Given the description of an element on the screen output the (x, y) to click on. 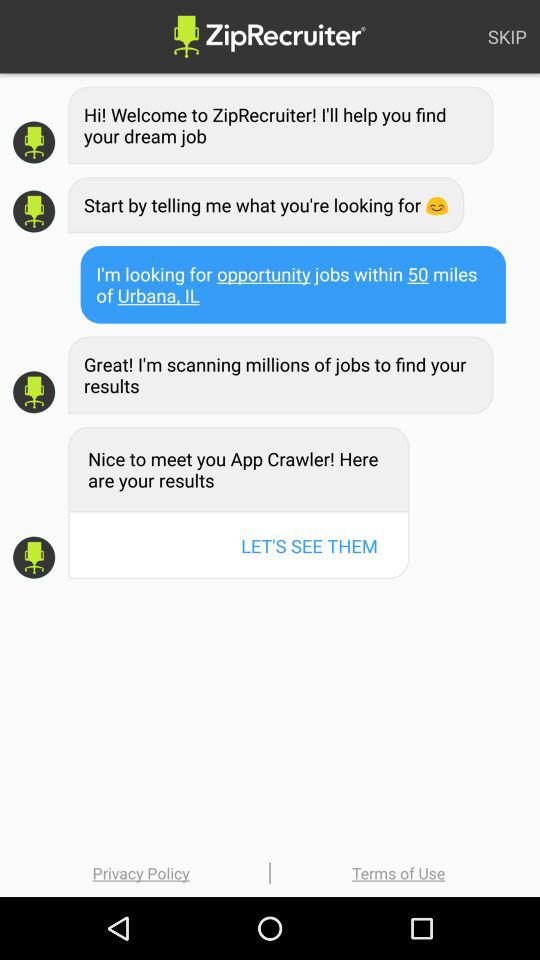
swipe to the terms of use item (398, 872)
